Given the description of an element on the screen output the (x, y) to click on. 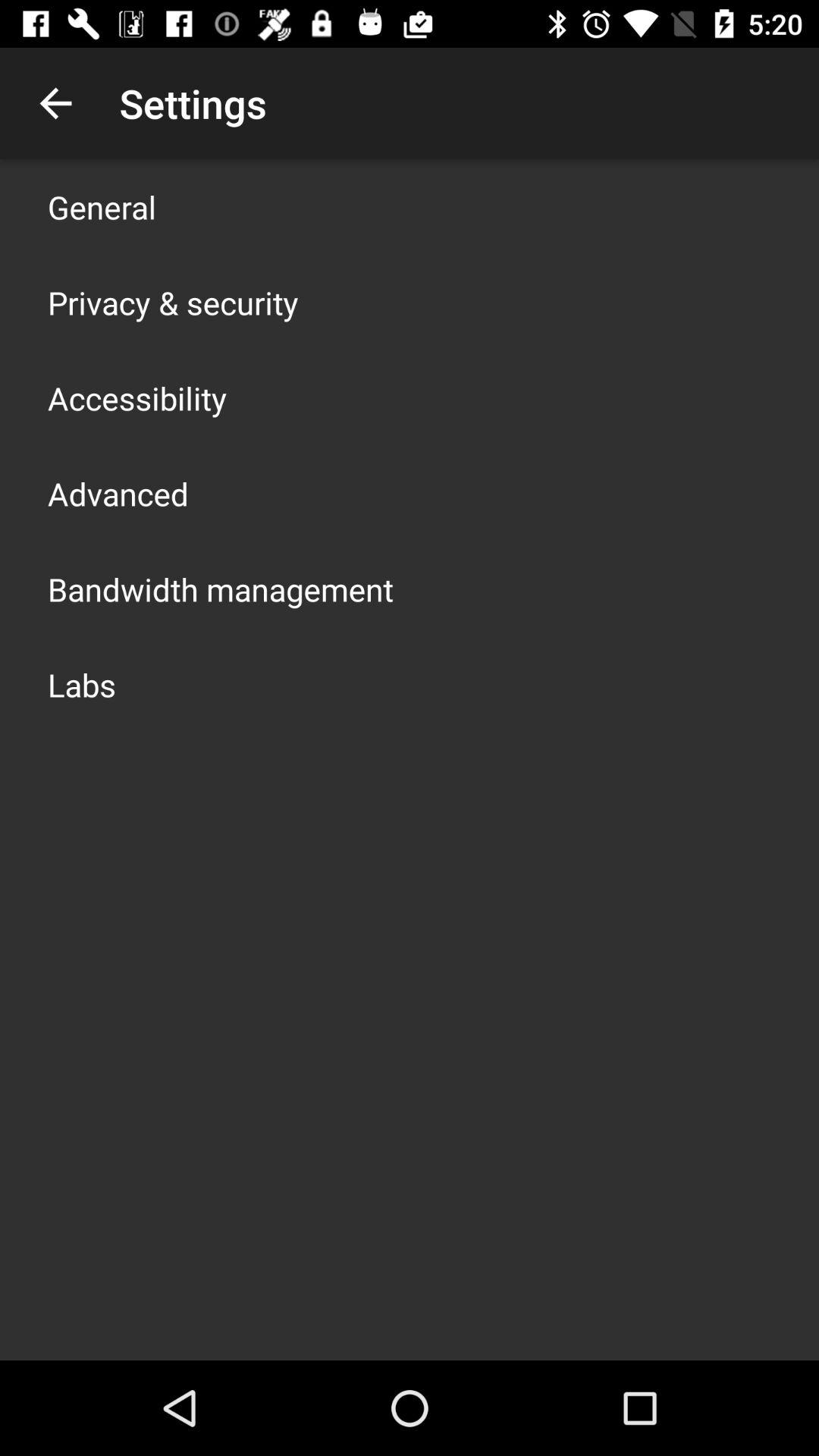
turn off the app above general app (55, 103)
